Given the description of an element on the screen output the (x, y) to click on. 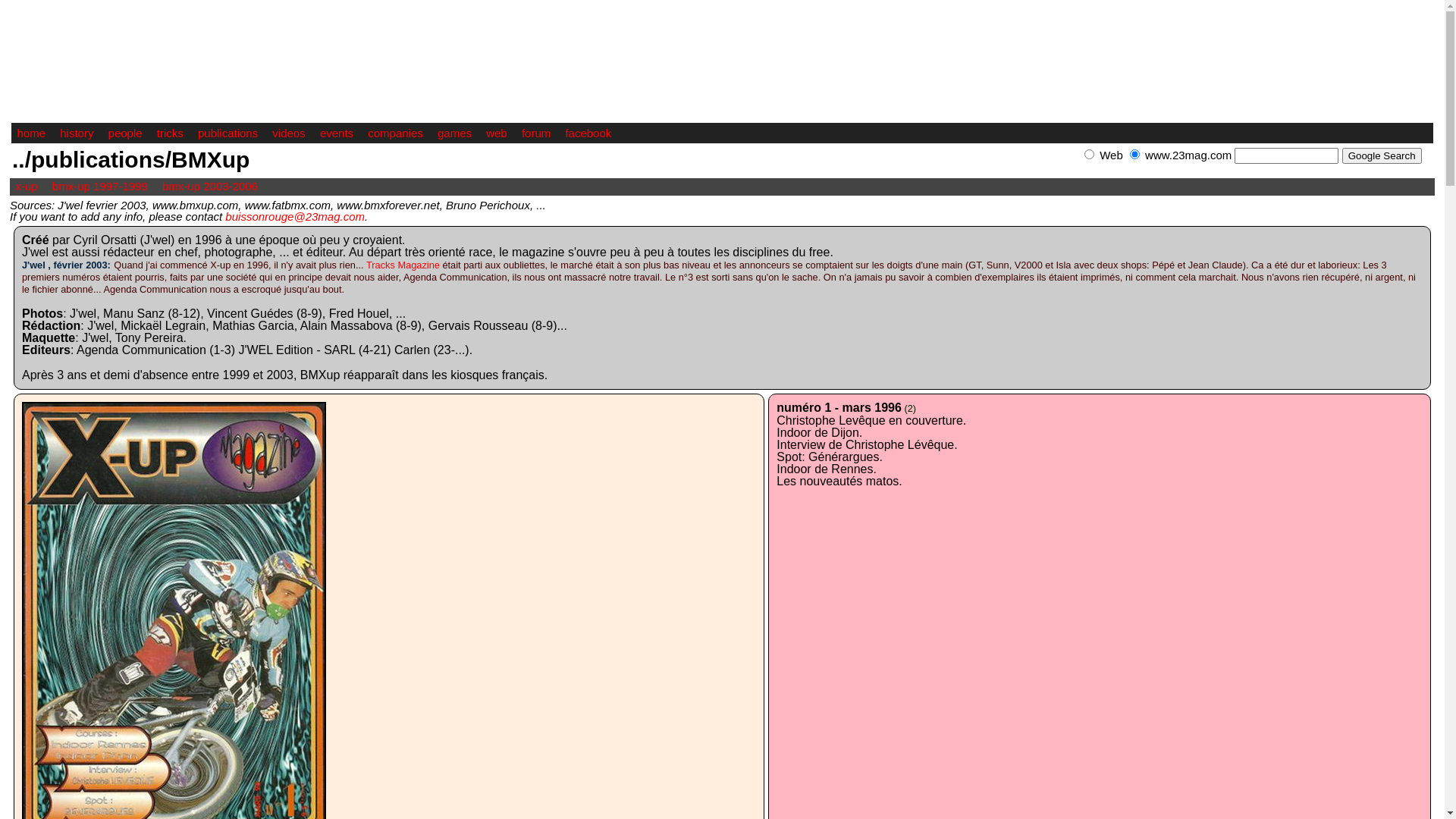
videos Element type: text (288, 132)
x-up Element type: text (26, 185)
buissonrouge@23mag.com Element type: text (294, 215)
Google Search Element type: text (1381, 155)
forum Element type: text (535, 132)
games Element type: text (454, 132)
tricks Element type: text (169, 132)
bmx-up 2003-2006 Element type: text (209, 185)
people Element type: text (125, 132)
bmx-up 1997-1999 Element type: text (99, 185)
companies Element type: text (395, 132)
Tracks Magazine Element type: text (402, 264)
facebook Element type: text (587, 132)
web Element type: text (496, 132)
Advertisement Element type: hover (1255, 171)
events Element type: text (336, 132)
home Element type: text (30, 132)
history Element type: text (76, 132)
publications Element type: text (227, 132)
